Given the description of an element on the screen output the (x, y) to click on. 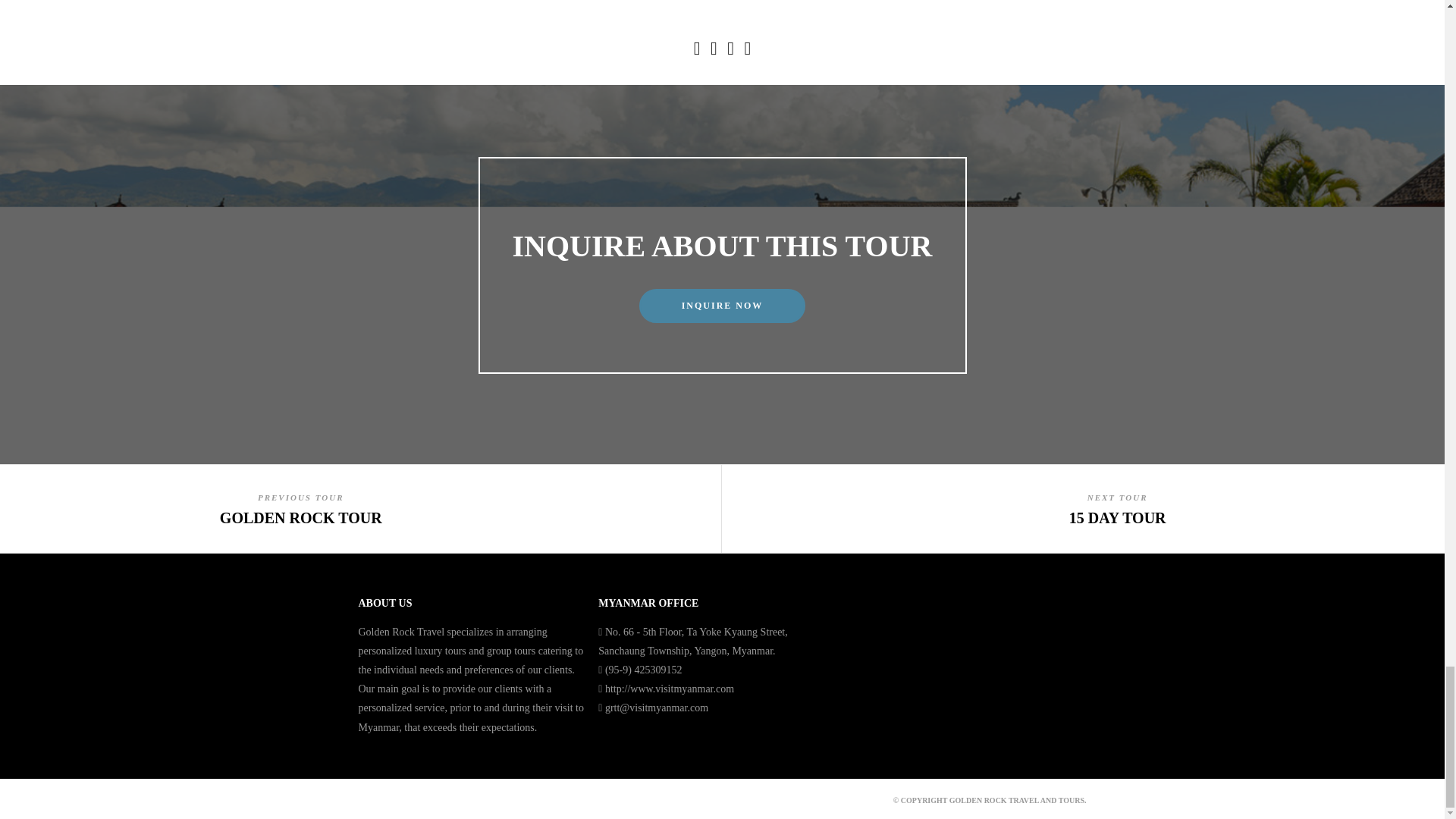
Share On Facebook (697, 50)
INQUIRE NOW (722, 305)
Share On Pinterest (730, 50)
GOLDEN ROCK TOUR (300, 517)
15 DAY TOUR (1117, 517)
Share On Twitter (713, 50)
